Given the description of an element on the screen output the (x, y) to click on. 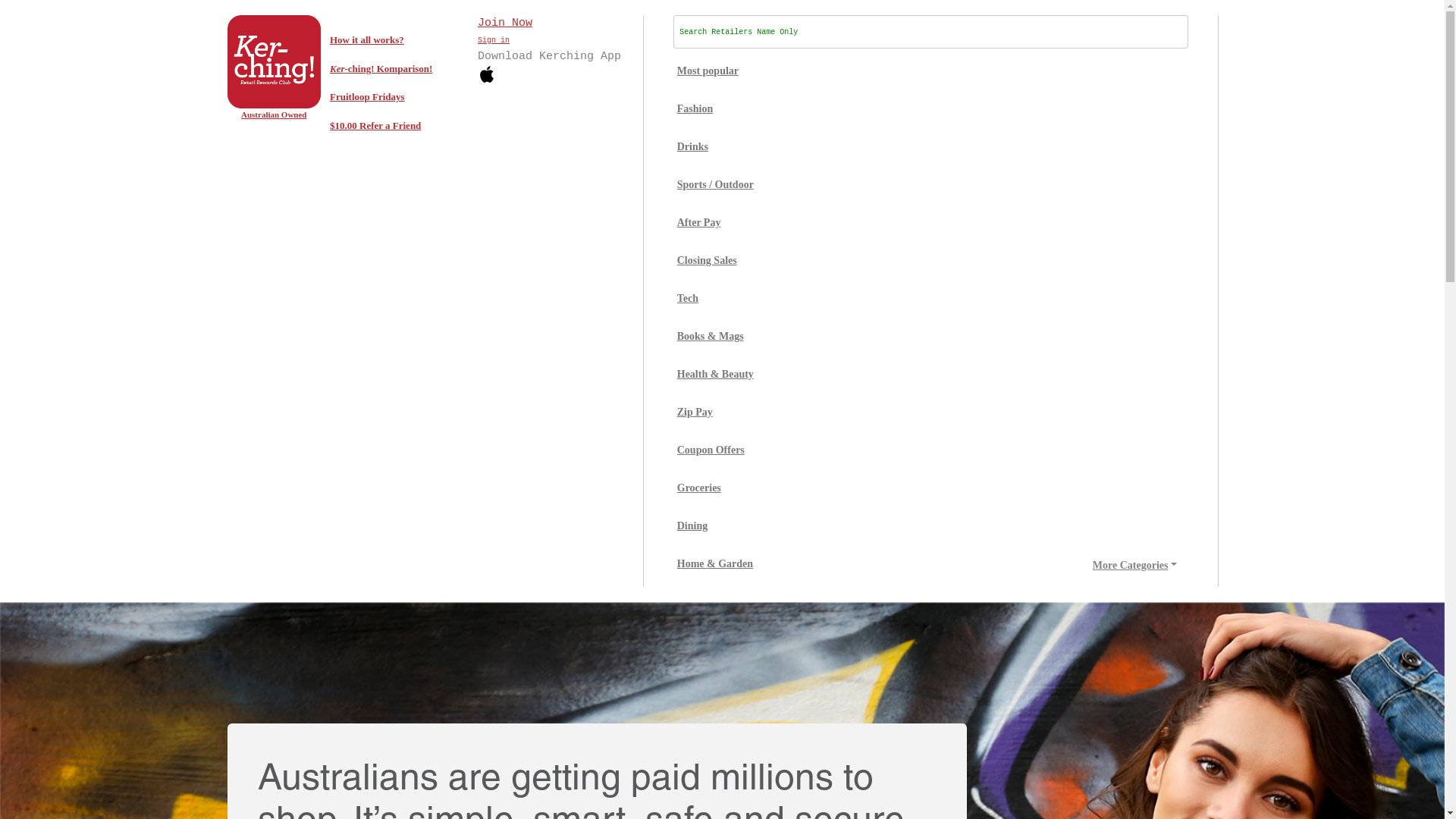
Tech Element type: text (715, 298)
Drinks Element type: text (715, 147)
$10.00 Refer a Friend Element type: text (396, 124)
Australian Owned Element type: text (273, 88)
Groceries Element type: text (715, 488)
Coupon Offers Element type: text (715, 450)
After Pay Element type: text (715, 222)
Fruitloop Fridays Element type: text (396, 96)
Fashion Element type: text (715, 109)
Health & Beauty Element type: text (715, 374)
How it all works? Element type: text (396, 39)
Closing Sales Element type: text (715, 260)
More Categories Element type: text (1134, 565)
Home & Garden Element type: text (715, 564)
Sign in Element type: text (493, 41)
Most popular Element type: text (715, 71)
Ker-ching! Komparison! Element type: text (396, 68)
Zip Pay Element type: text (715, 412)
Books & Mags Element type: text (715, 336)
Sports / Outdoor Element type: text (715, 184)
Join Now Element type: text (504, 24)
Dining Element type: text (715, 526)
